Given the description of an element on the screen output the (x, y) to click on. 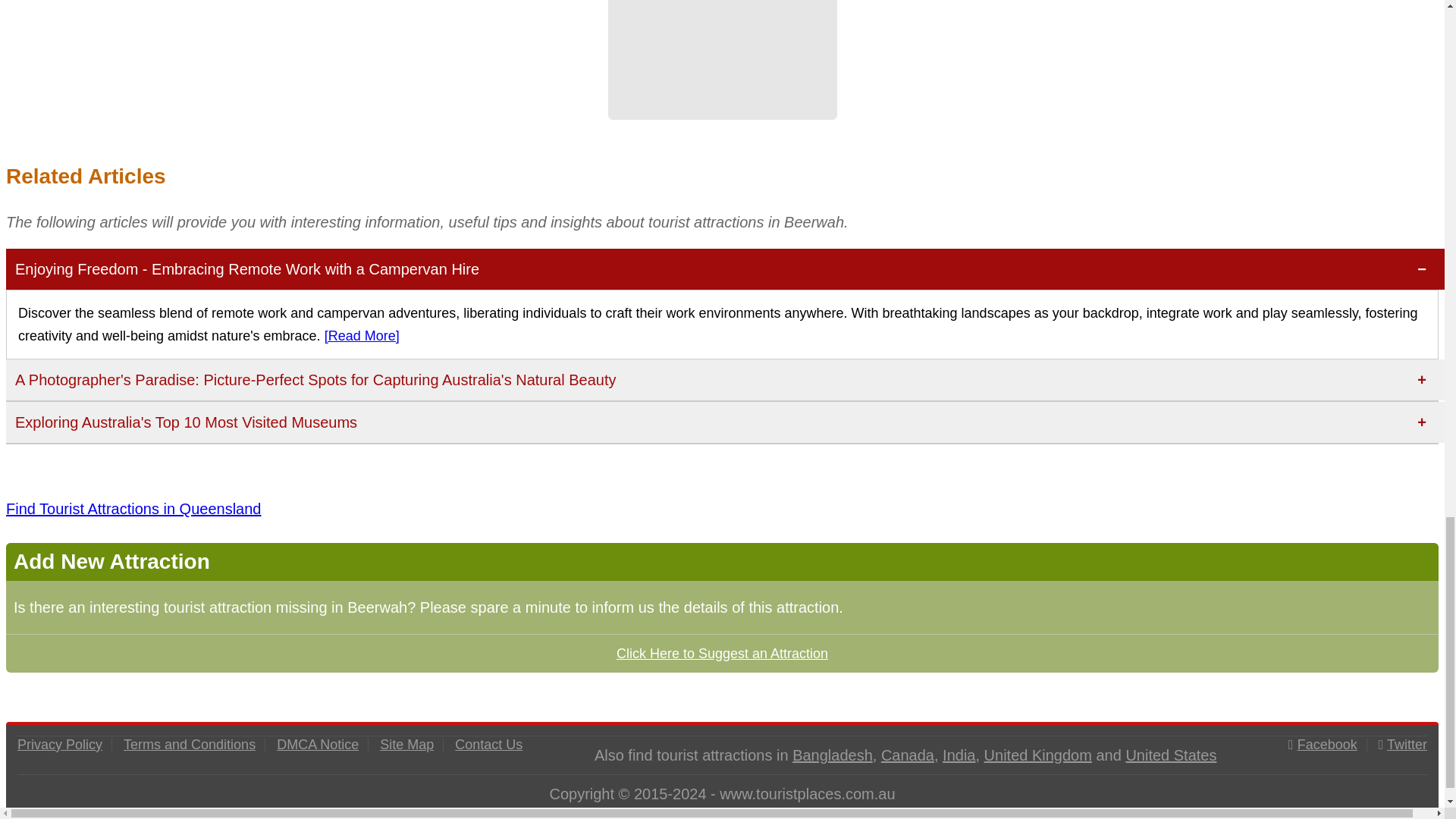
Terms and Conditions (189, 744)
DMCA Notice (317, 744)
Tourist attractions in Bangladesh (832, 754)
Privacy Policy (59, 744)
Facebook (1326, 744)
Site Map (406, 744)
Contact Us (488, 744)
Find Tourist Attractions in Queensland (132, 508)
Click Here to Suggest an Attraction (721, 652)
Tourist attractions in Canada (907, 754)
